Given the description of an element on the screen output the (x, y) to click on. 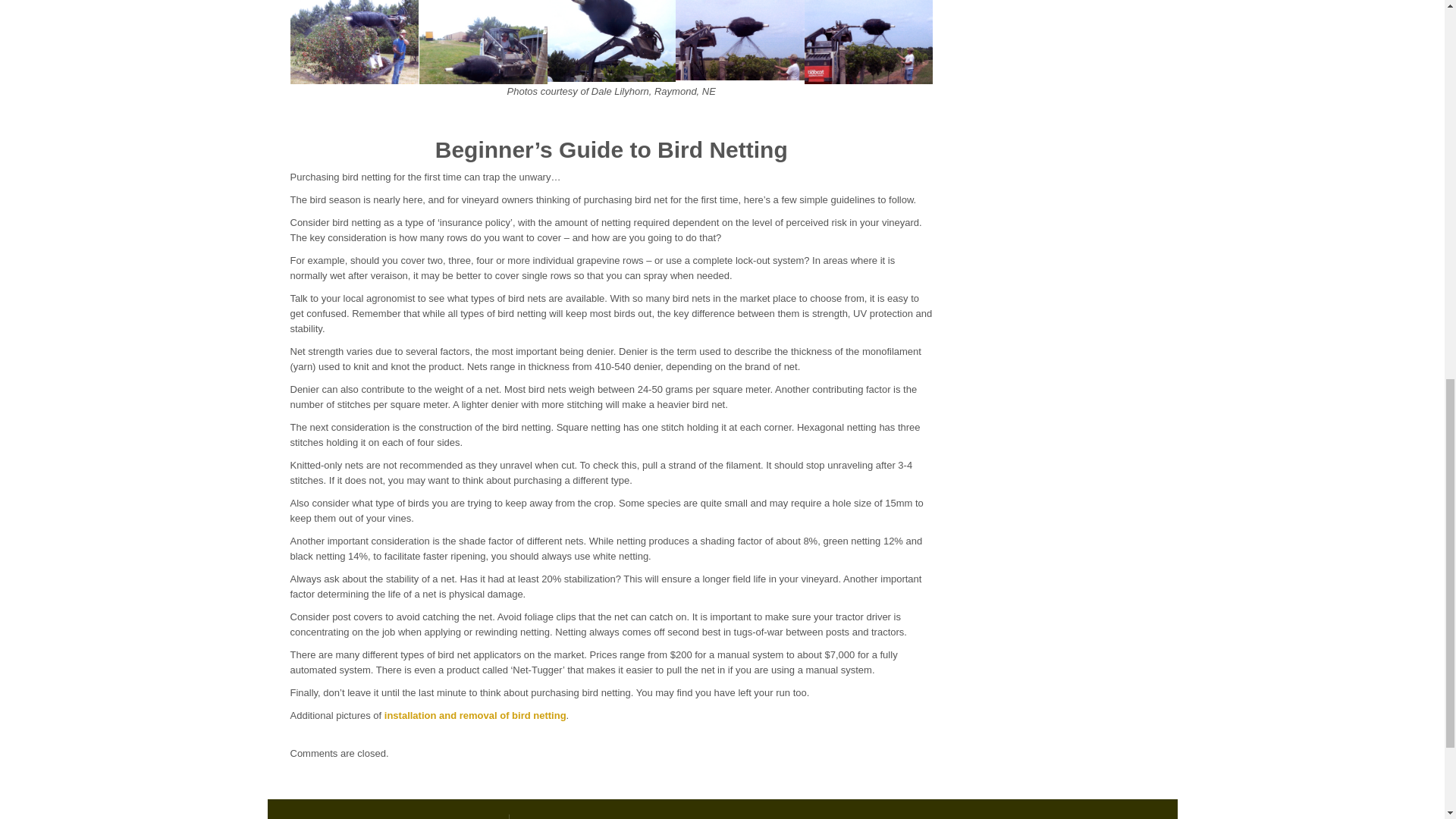
birdnet11 (868, 41)
birdnet9 (612, 39)
birdnet8 (483, 41)
MDTgrow.com (398, 809)
birdnet10 (740, 39)
Installation and Removal of Woven Bird Netting (475, 715)
birdnet7 (354, 41)
